Given the description of an element on the screen output the (x, y) to click on. 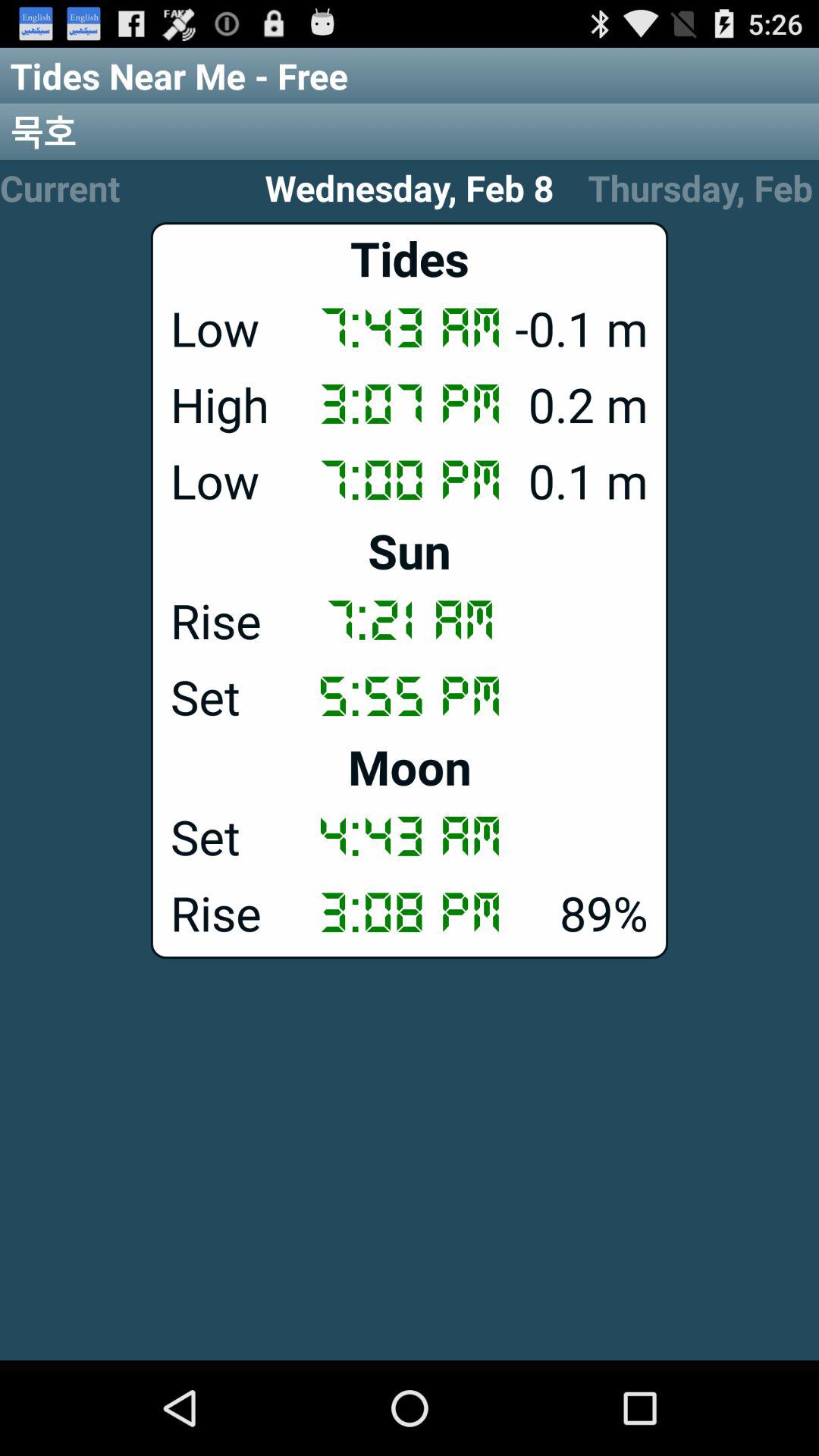
click the sun (409, 550)
